Given the description of an element on the screen output the (x, y) to click on. 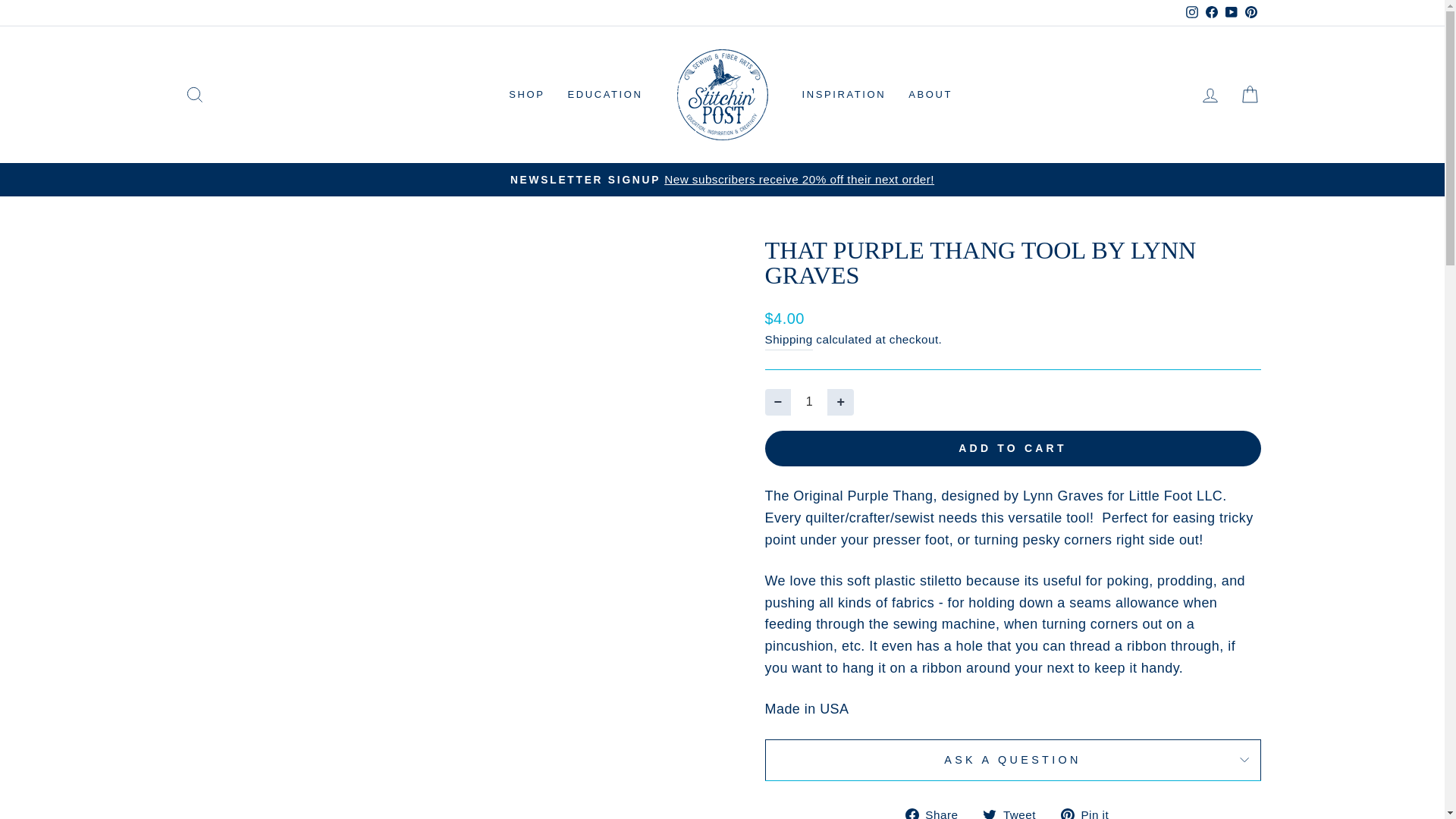
Tweet on Twitter (1014, 811)
Increase Quantity (840, 401)
1 (808, 401)
Decrease Quantity (777, 401)
Share on Facebook (937, 811)
Pin on Pinterest (1090, 811)
